Given the description of an element on the screen output the (x, y) to click on. 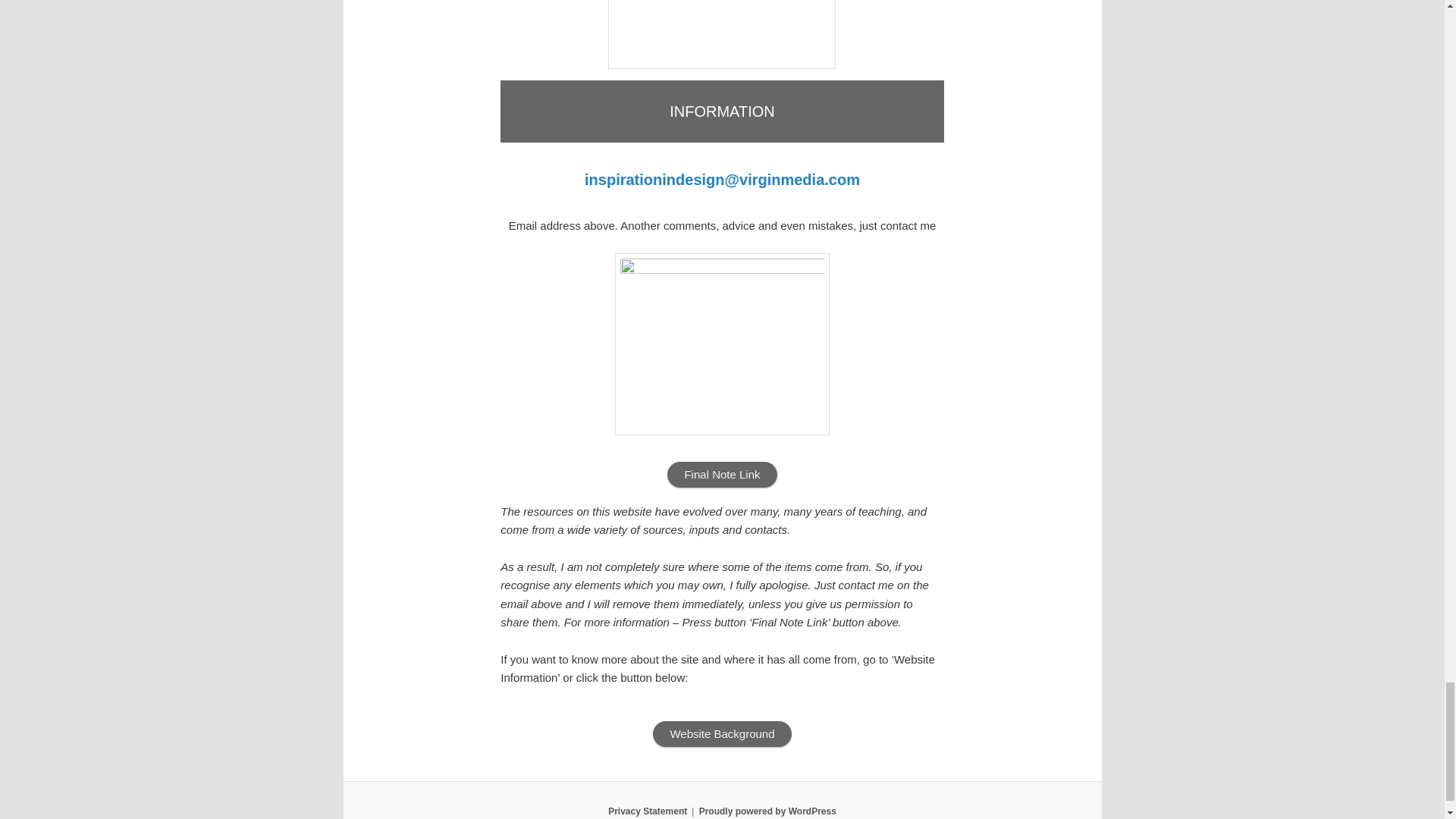
Semantic Personal Publishing Platform (766, 810)
